Given the description of an element on the screen output the (x, y) to click on. 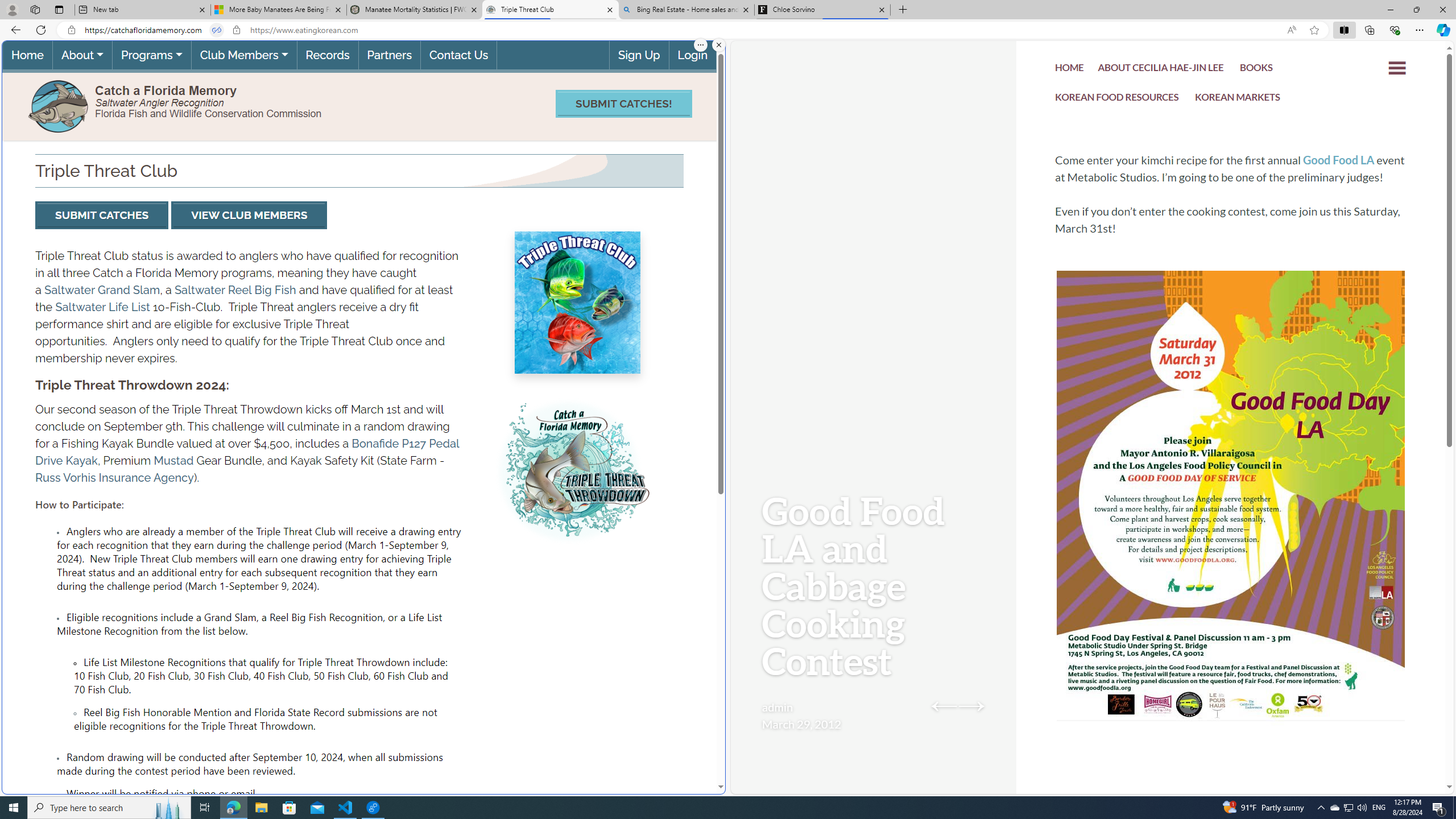
Address and search bar (680, 29)
Sign Up (638, 54)
App bar (728, 29)
Close tab (881, 9)
Home (current) (27, 54)
good food la poster (1230, 530)
New tab (142, 9)
Club Members (243, 54)
Close split screen. (719, 45)
March 29, 2012 (801, 723)
Chloe Sorvino (822, 9)
Records (327, 54)
KOREAN MARKETS (1237, 99)
Close (1442, 9)
